Given the description of an element on the screen output the (x, y) to click on. 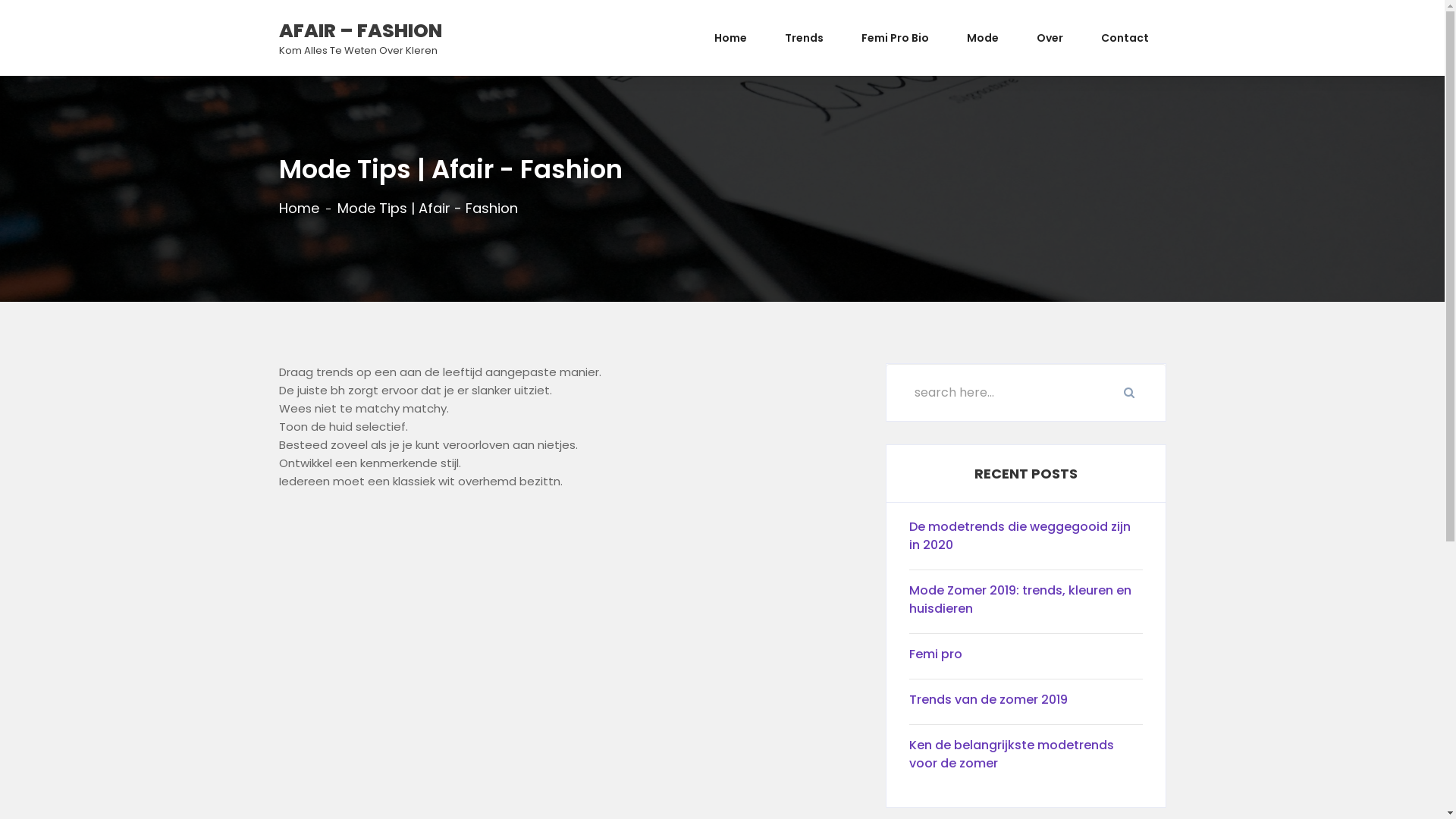
Femi Pro Bio Element type: text (894, 37)
Search for: Element type: hover (1024, 392)
Home Element type: text (299, 208)
Over Element type: text (1049, 37)
Mode Zomer 2019: trends, kleuren en huisdieren Element type: text (1025, 603)
Mode Element type: text (982, 37)
Trends Element type: text (803, 37)
Trends van de zomer 2019 Element type: text (1025, 703)
De modetrends die weggegooid zijn in 2020 Element type: text (1025, 539)
Ken de belangrijkste modetrends voor de zomer Element type: text (1025, 758)
Home Element type: text (729, 37)
Contact Element type: text (1124, 37)
Femi pro Element type: text (1025, 658)
